Given the description of an element on the screen output the (x, y) to click on. 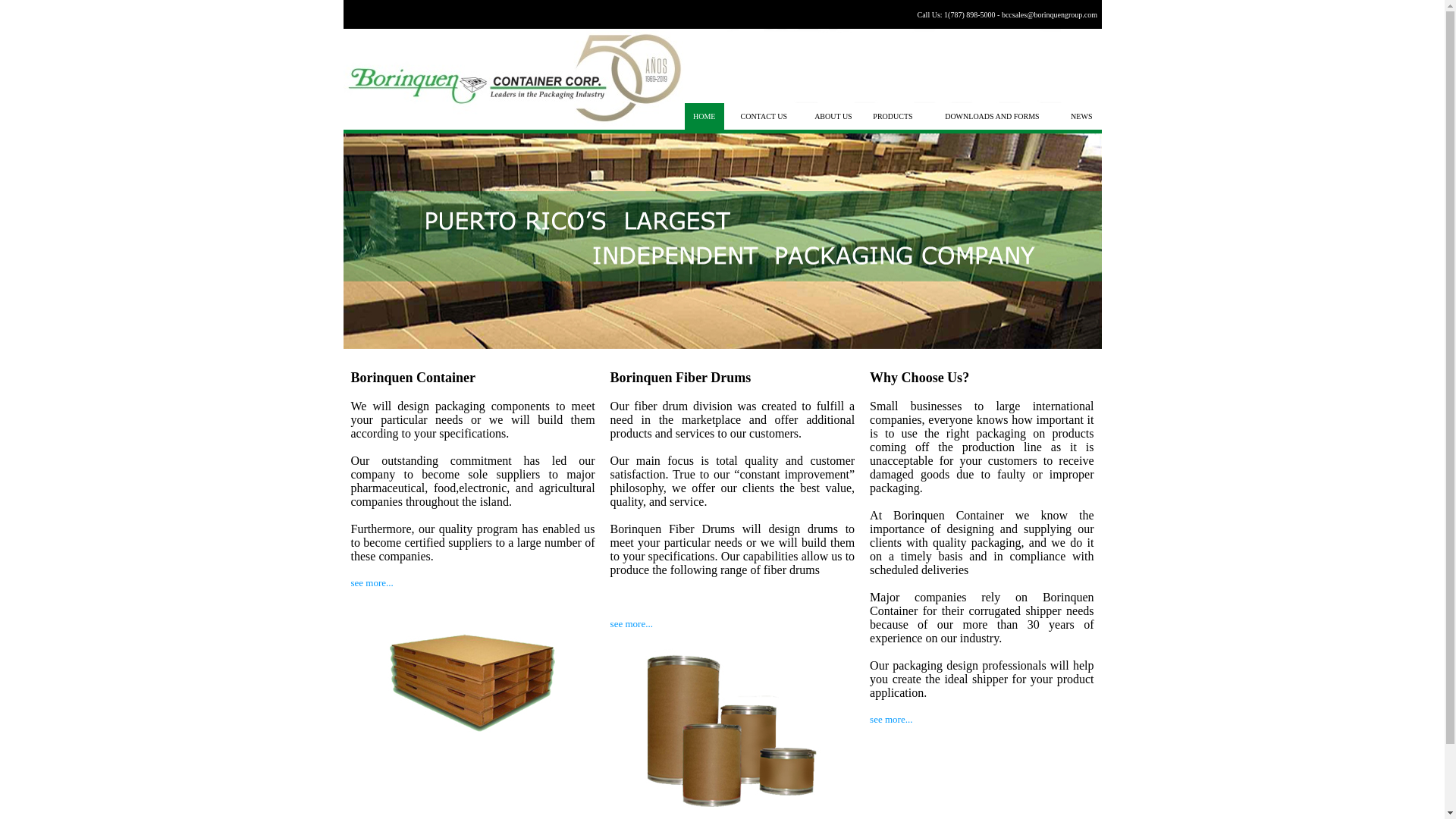
CONTACT US (763, 116)
see more... (890, 718)
ABOUT US (832, 116)
Why Choose Us? (919, 377)
see more... (631, 623)
NEWS (1081, 116)
DOWNLOADS AND FORMS (991, 116)
see more... (371, 582)
Borinquen Container (413, 377)
HOME (703, 116)
